Given the description of an element on the screen output the (x, y) to click on. 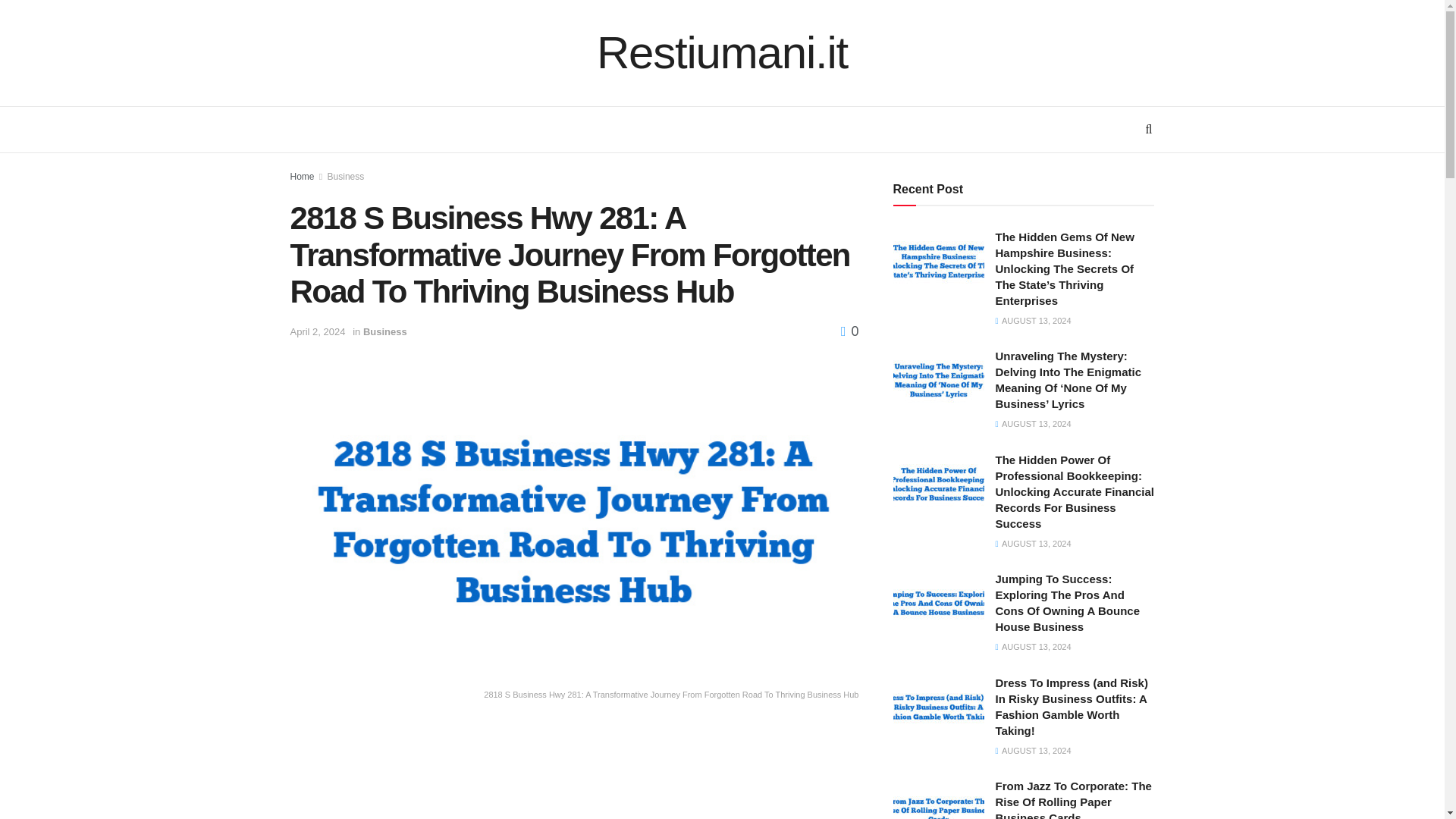
Home (301, 176)
Restiumani.it (721, 53)
Business (346, 176)
April 2, 2024 (317, 331)
0 (850, 331)
Advertisement (574, 772)
Business (384, 331)
